Given the description of an element on the screen output the (x, y) to click on. 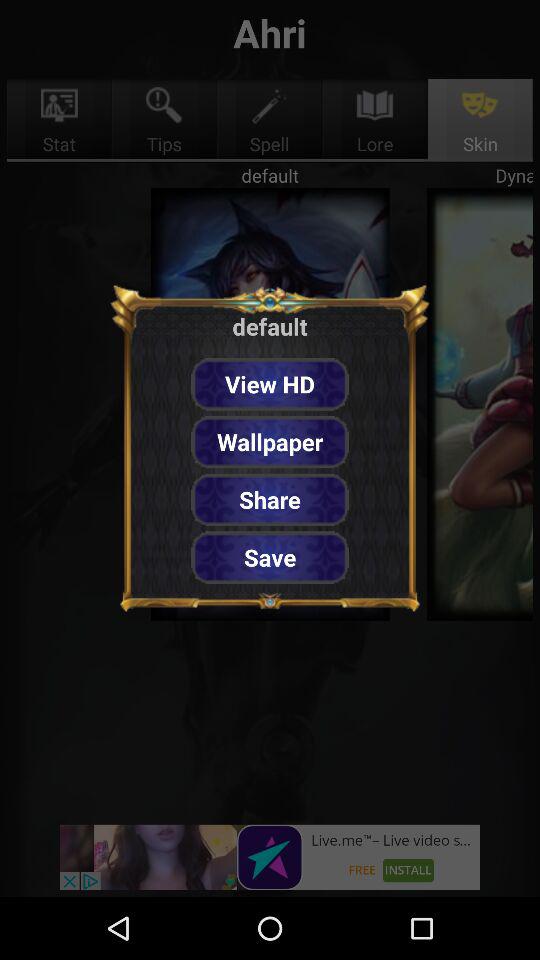
swipe until the wallpaper item (269, 441)
